Given the description of an element on the screen output the (x, y) to click on. 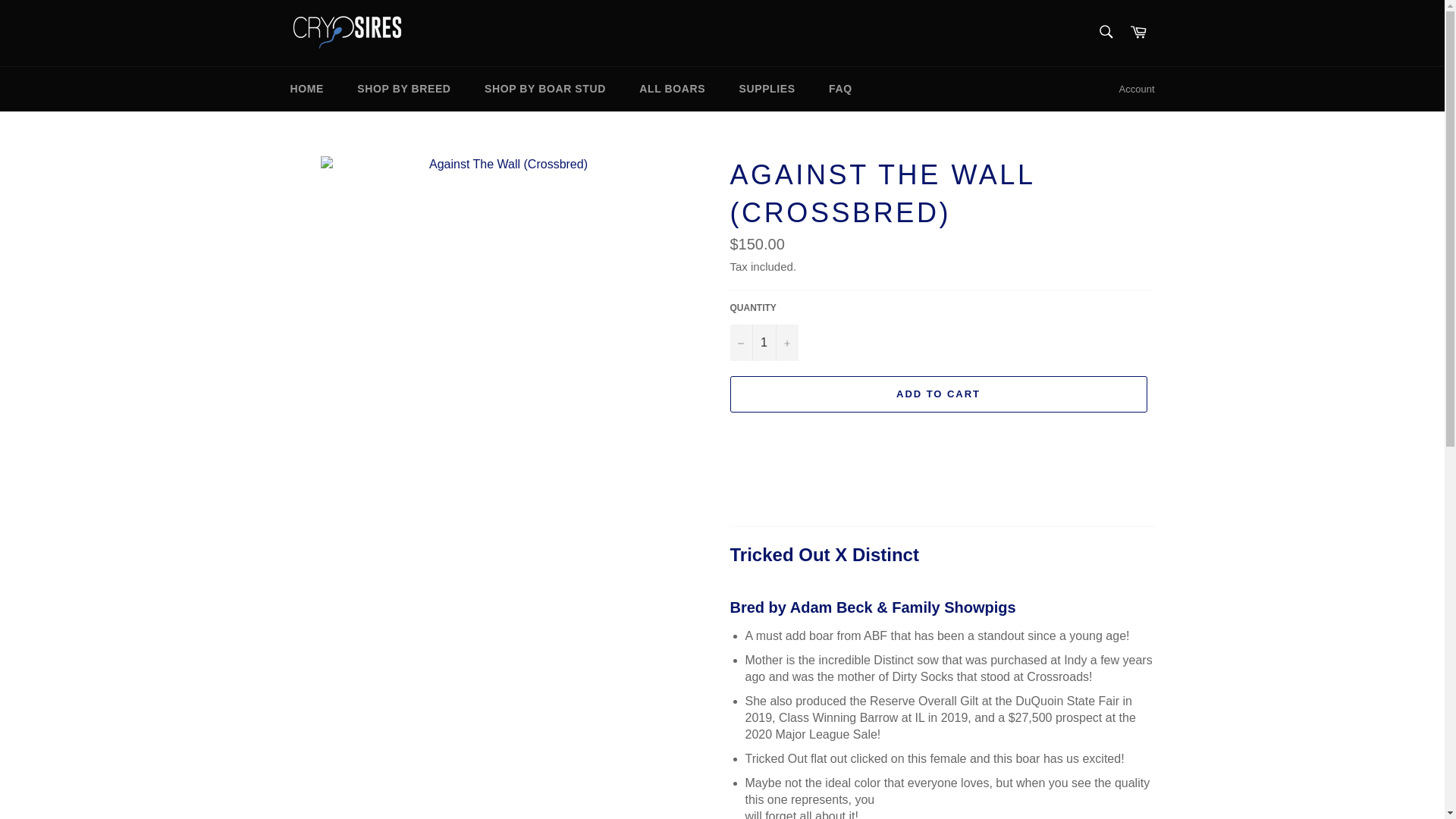
ADD TO CART (938, 393)
FAQ (840, 88)
Search (1104, 31)
ALL BOARS (672, 88)
HOME (306, 88)
SHOP BY BOAR STUD (544, 88)
SHOP BY BREED (403, 88)
SUPPLIES (766, 88)
Account (1136, 89)
Cart (1138, 32)
